Given the description of an element on the screen output the (x, y) to click on. 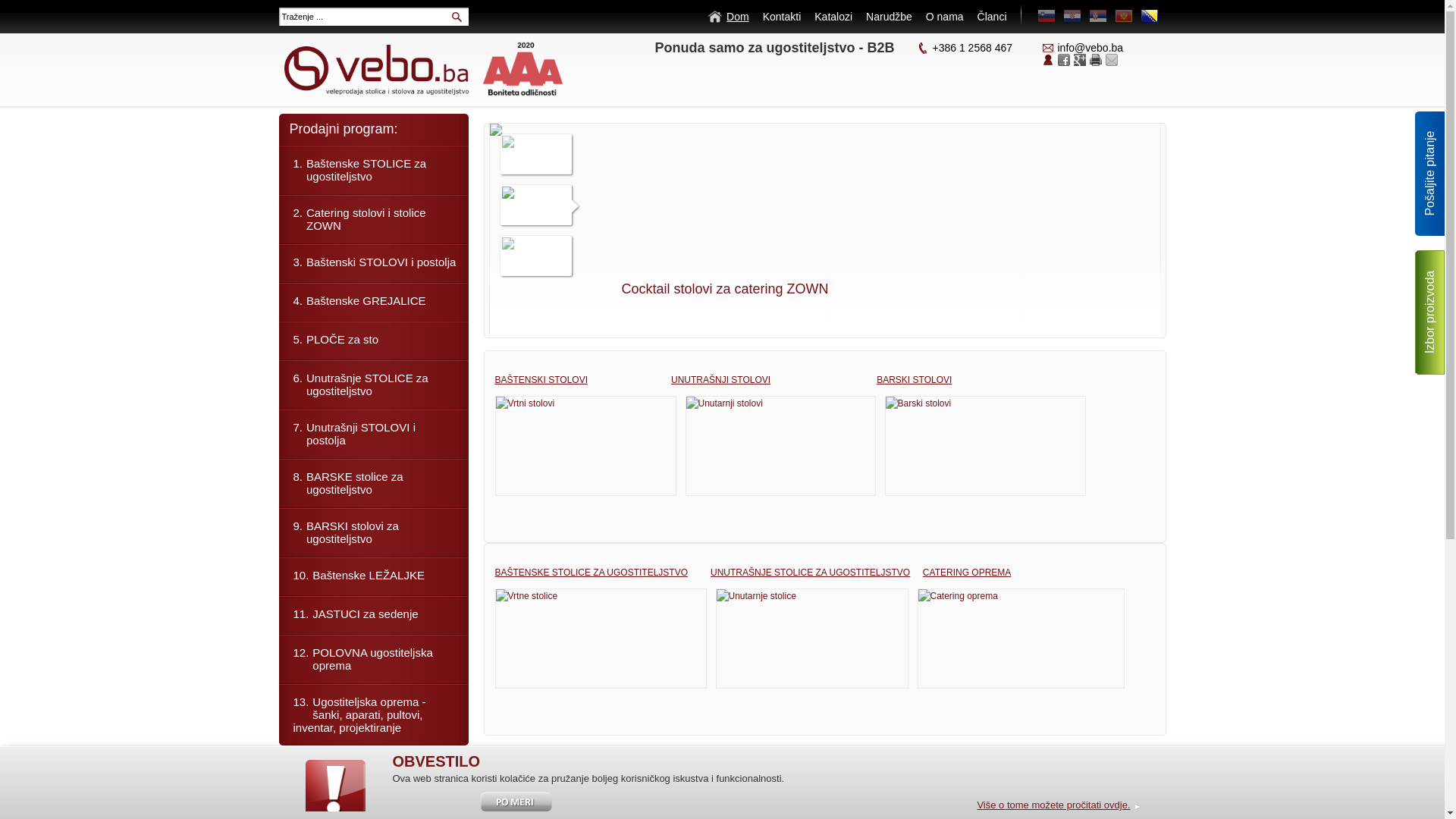
Katalozi Element type: text (833, 16)
11.
JASTUCI za sedenje Element type: text (373, 614)
Bosansko Element type: hover (1149, 15)
O nama Element type: text (944, 16)
Hrvatsko Element type: hover (1072, 15)
Srpsko Element type: hover (1097, 15)
Facebook Element type: hover (1063, 59)
Google+ Element type: hover (1079, 59)
12.
POLOVNA ugostiteljska oprema Element type: text (373, 658)
Crna Gora Element type: hover (1123, 15)
BARSKI STOLOVI Element type: text (913, 379)
Se strinjam Element type: text (428, 801)
Kontakti Element type: text (781, 16)
ZOWN catering stolice i stolovi Element type: text (714, 288)
Slovensko Element type: hover (1046, 15)
2.
Catering stolovi i stolice ZOWN Element type: text (373, 218)
8.
BARSKE stolice za ugostiteljstvo Element type: text (373, 482)
Dom Element type: text (728, 16)
Tiskajte stranicu Element type: hover (1094, 59)
9.
BARSKI stolovi za ugostiteljstvo Element type: text (373, 531)
CATERING OPREMA Element type: text (966, 572)
Po meri Element type: text (516, 801)
